Given the description of an element on the screen output the (x, y) to click on. 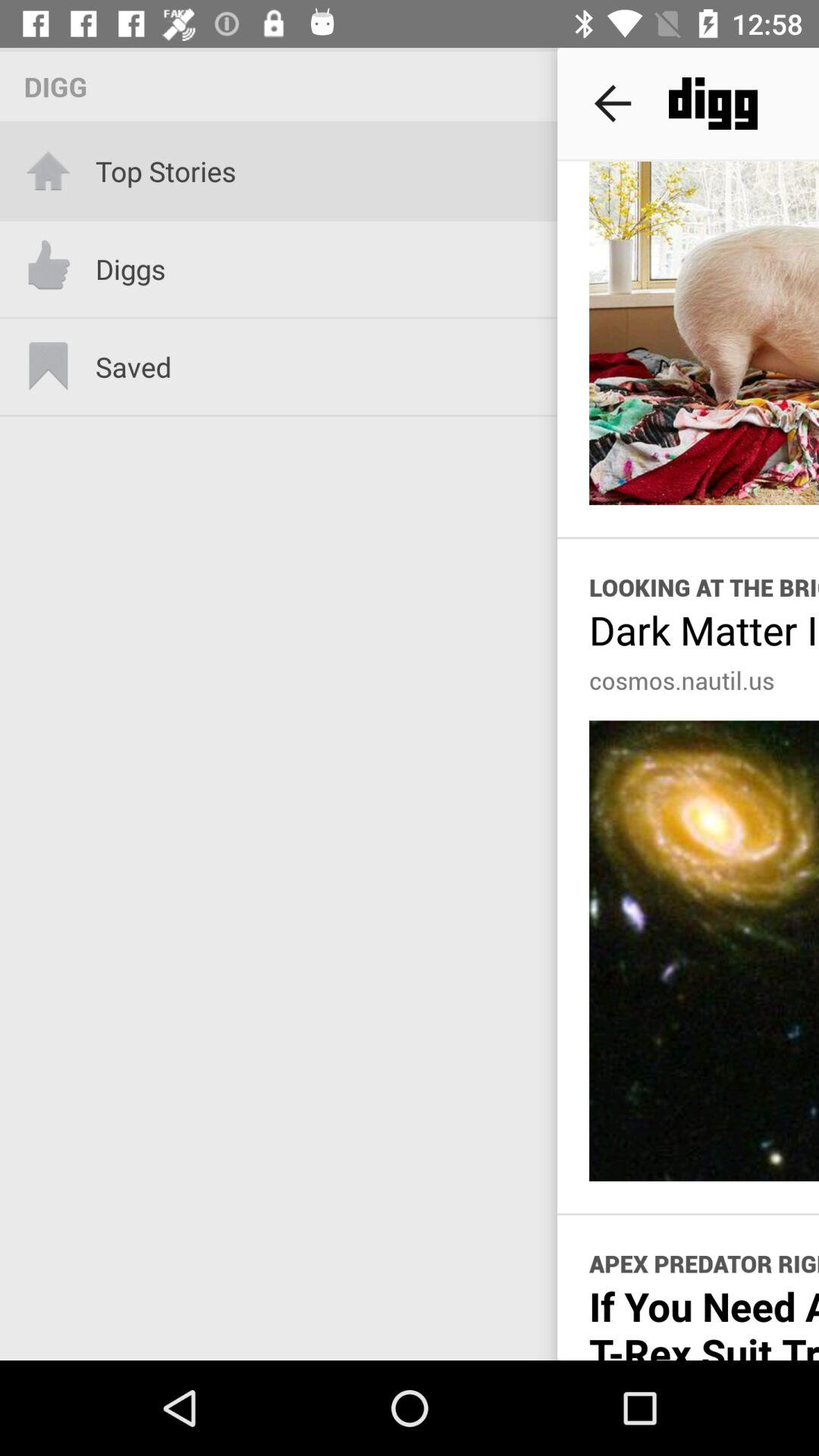
scroll to the looking at the icon (704, 587)
